Given the description of an element on the screen output the (x, y) to click on. 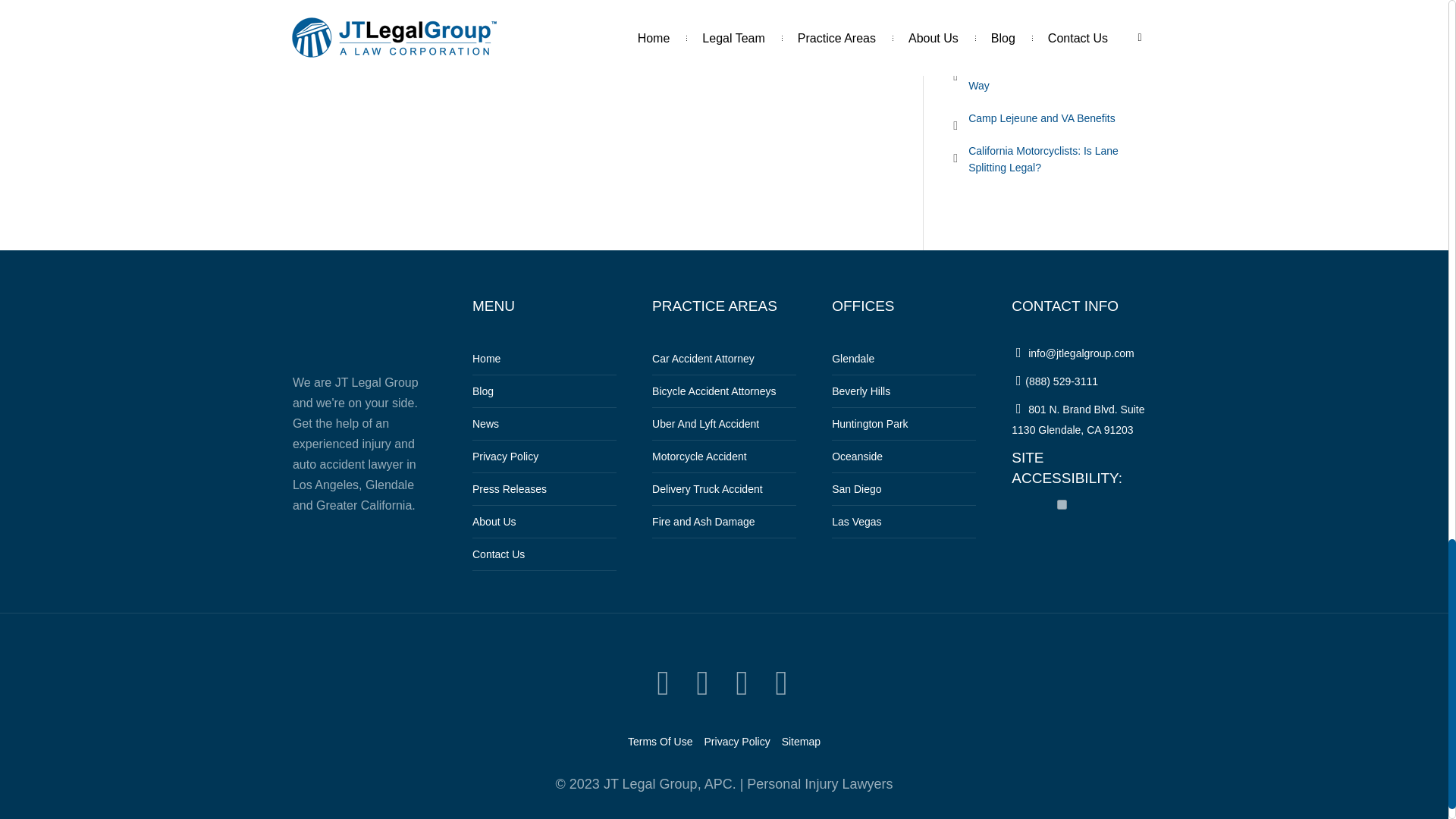
Twitter (662, 683)
Skype (780, 683)
linkedin (741, 683)
Facebook (702, 683)
on (1062, 504)
